Given the description of an element on the screen output the (x, y) to click on. 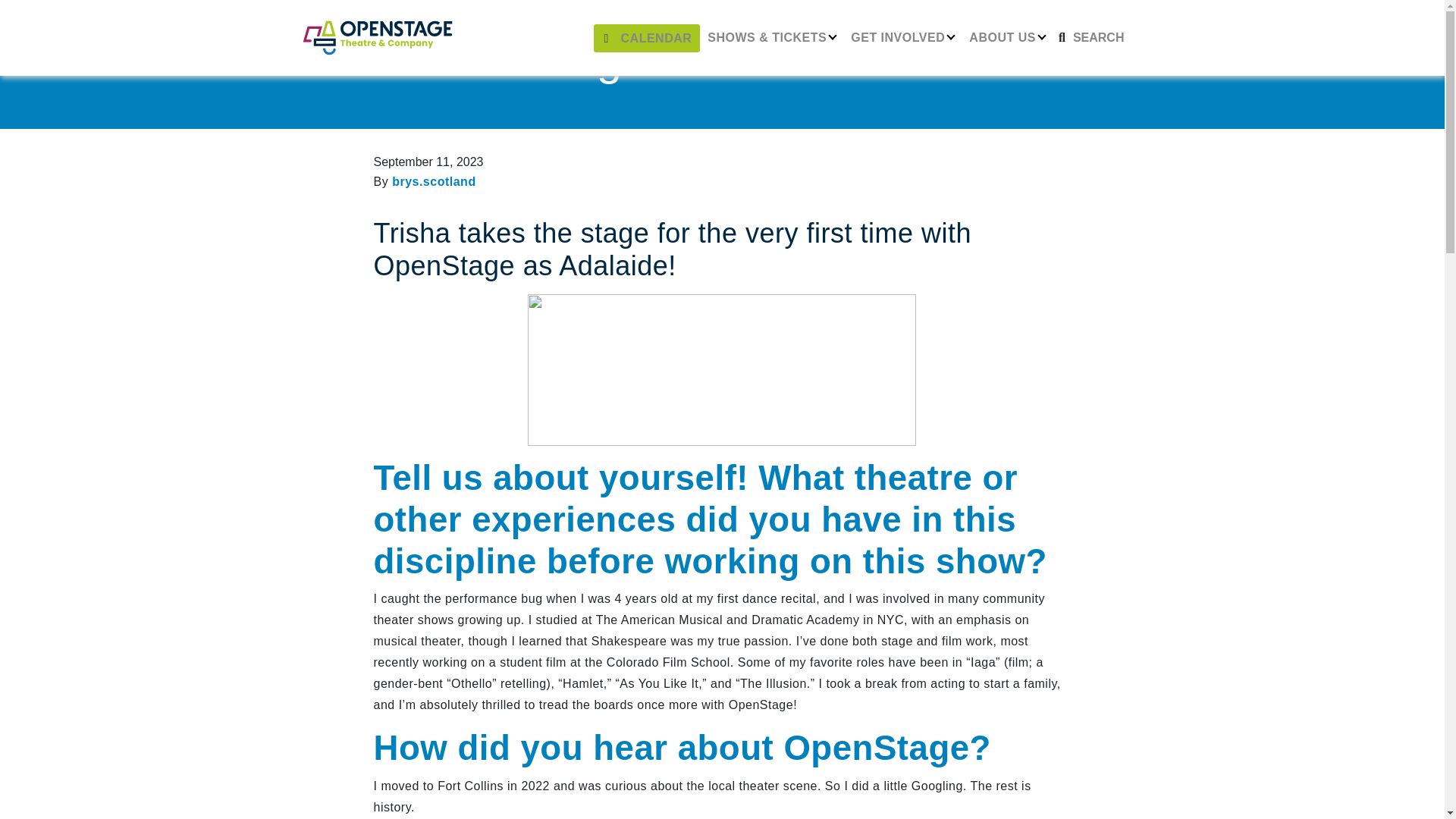
ABOUT US (1006, 37)
GET INVOLVED (901, 37)
Get Involved (901, 37)
brys.scotland (433, 181)
Calendar (647, 37)
CALENDAR (647, 37)
